Given the description of an element on the screen output the (x, y) to click on. 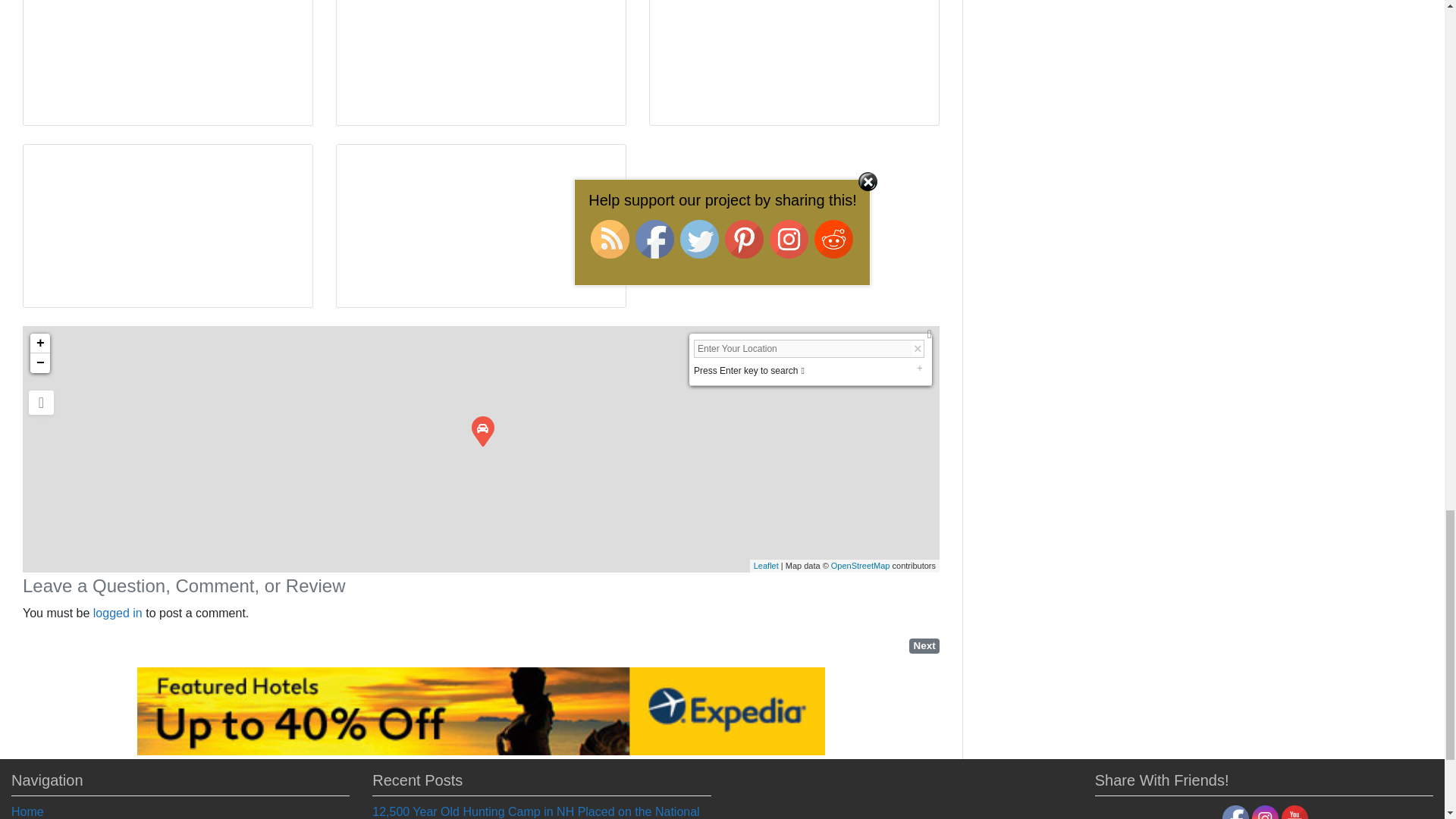
Bartlett Covered Bridge Bartlett New Hampshire (481, 430)
Zoom in (39, 342)
Zoom out (39, 362)
A JS library for interactive maps (766, 565)
